Given the description of an element on the screen output the (x, y) to click on. 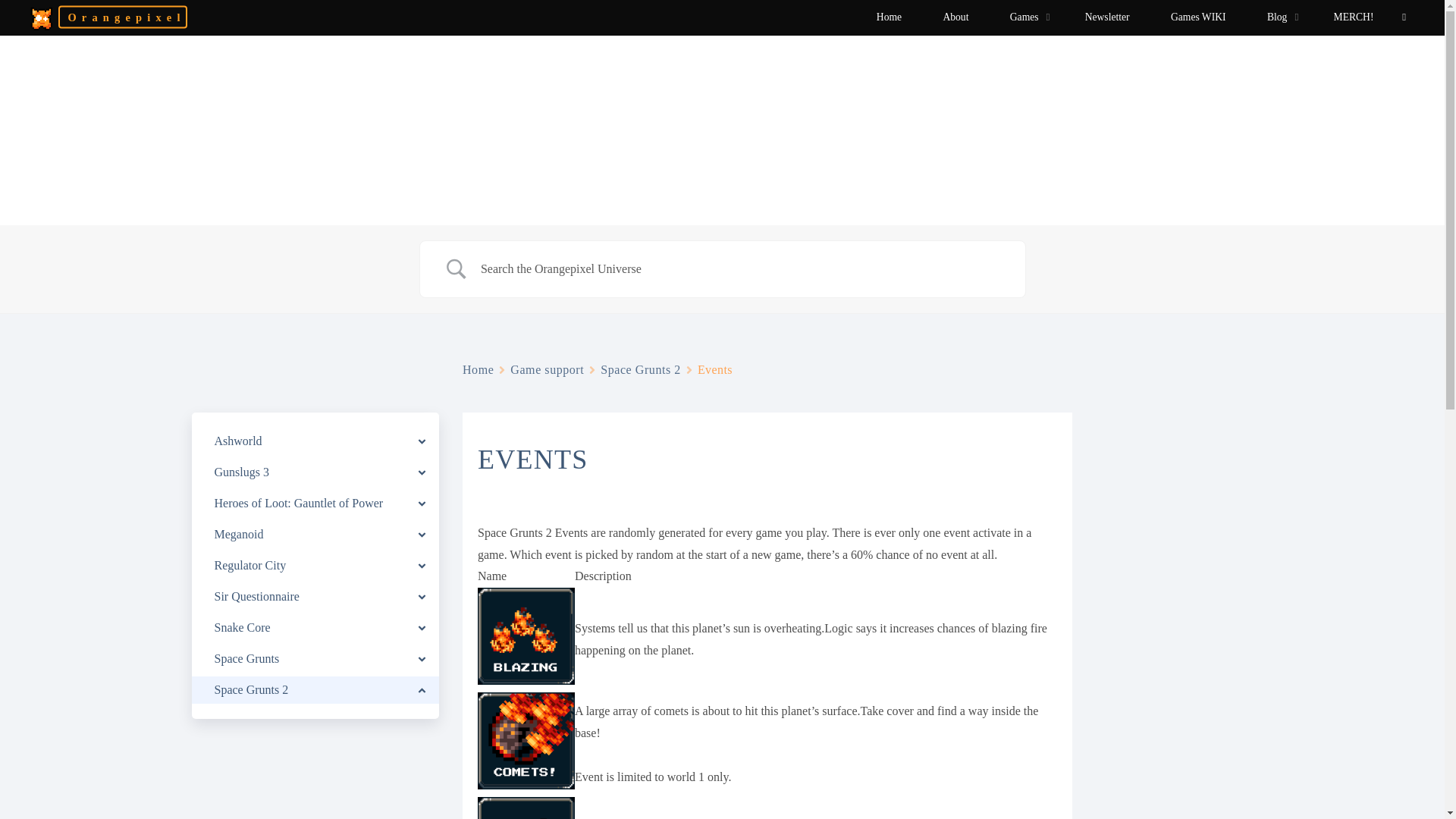
About (954, 17)
Games (1027, 17)
Home (889, 17)
Orangepixel (122, 15)
Orangepixel (41, 16)
Space Grunts 2 (640, 369)
Game support (547, 369)
Home (478, 369)
Creating a universe since 2004 (122, 15)
